Given the description of an element on the screen output the (x, y) to click on. 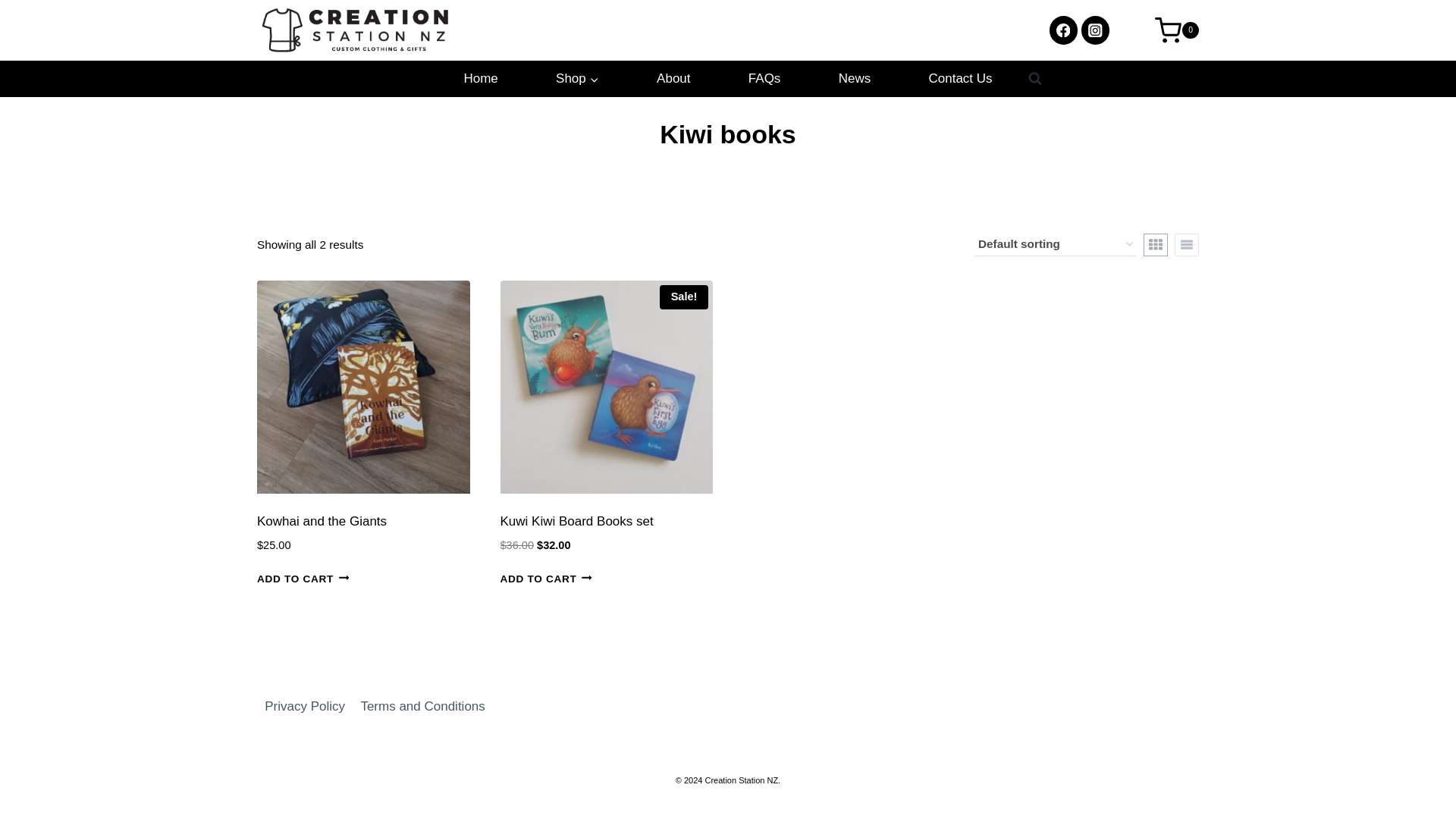
List View (1186, 244)
About (673, 78)
Grid View (1154, 244)
Shop (577, 78)
Home (480, 78)
0 (1176, 30)
